Given the description of an element on the screen output the (x, y) to click on. 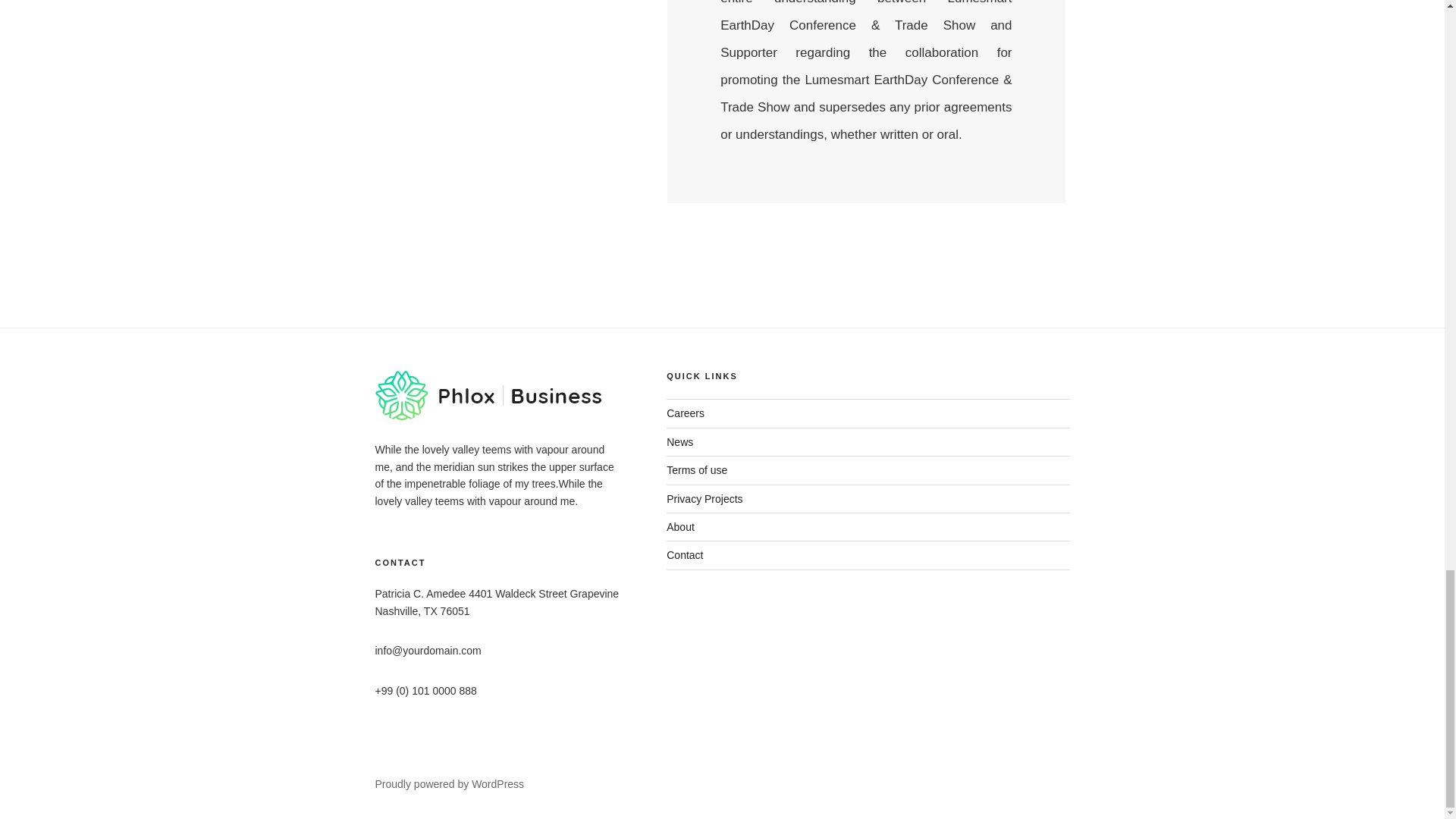
News (679, 441)
Privacy Projects (704, 499)
Careers (685, 413)
About (680, 526)
Contact (684, 554)
Proudly powered by WordPress (449, 784)
Terms of use (696, 469)
